Given the description of an element on the screen output the (x, y) to click on. 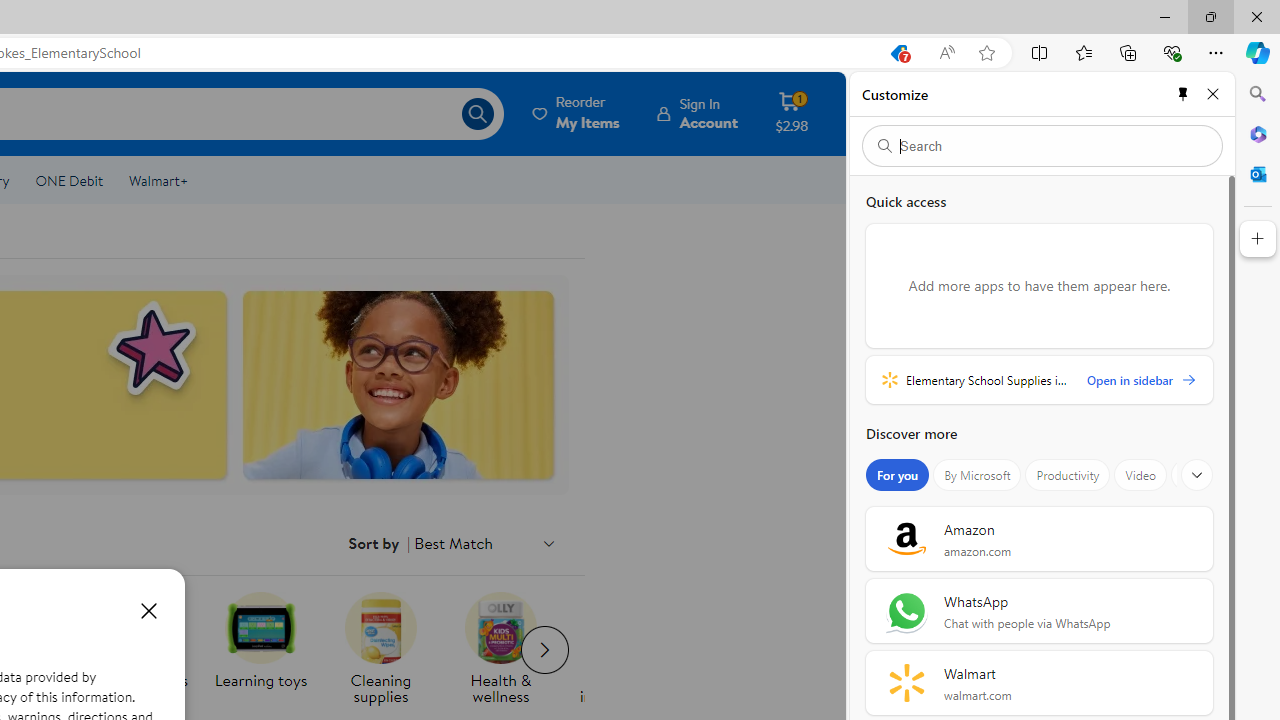
Video (1140, 475)
Productivity (1068, 475)
Close dialog (148, 610)
